Given the description of an element on the screen output the (x, y) to click on. 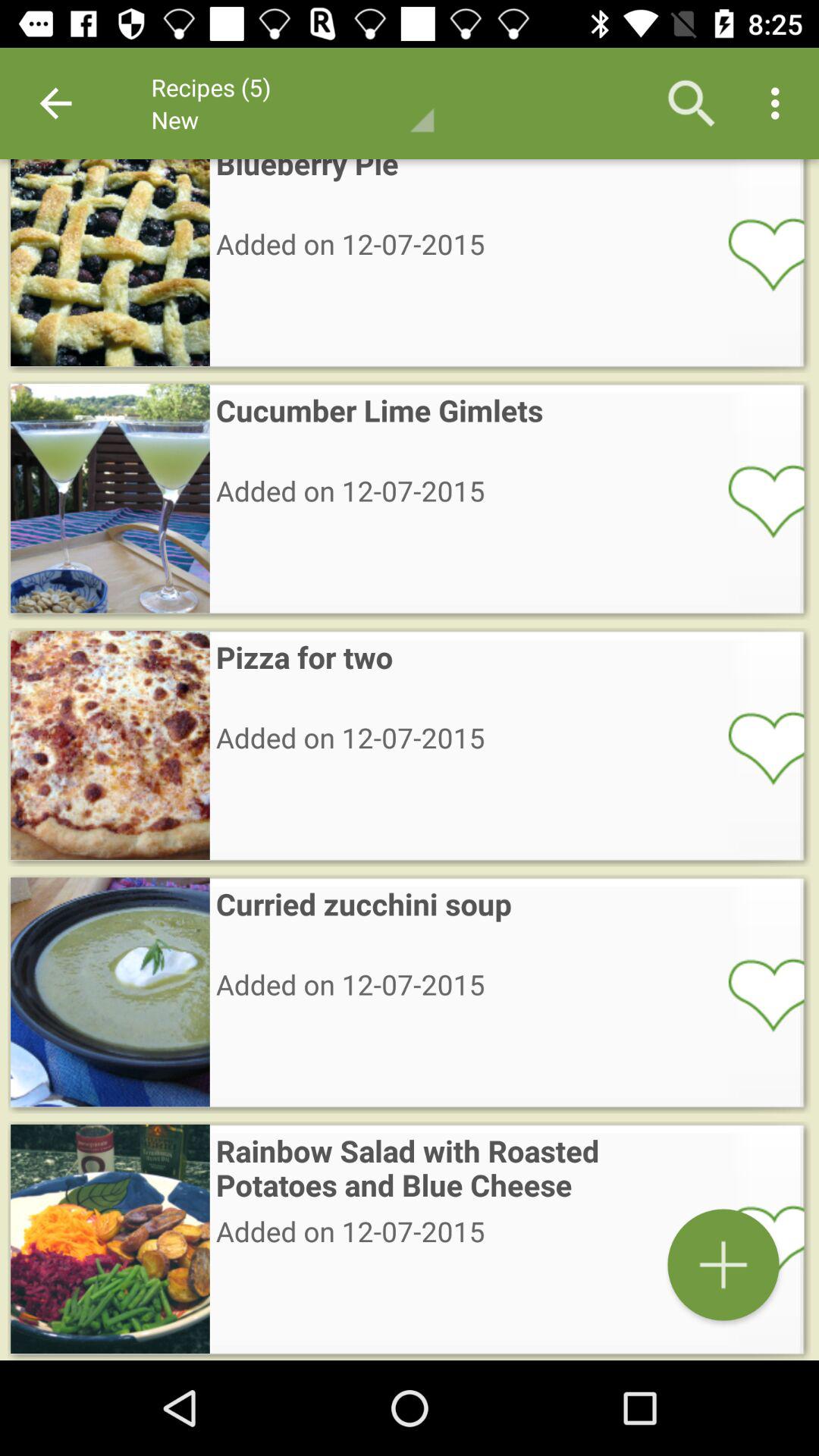
open selected item (756, 253)
